Given the description of an element on the screen output the (x, y) to click on. 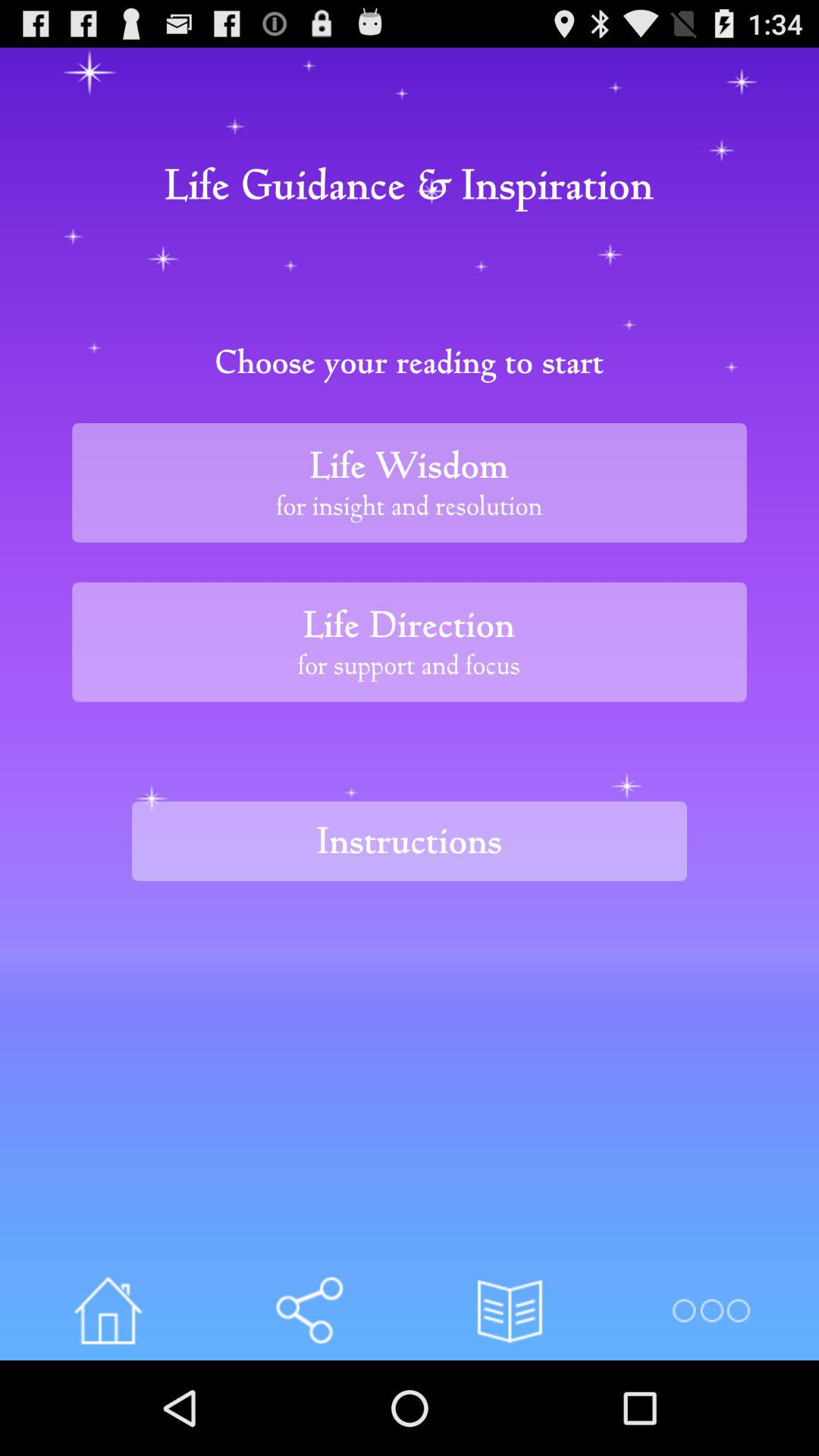
go to home page (107, 1310)
